Given the description of an element on the screen output the (x, y) to click on. 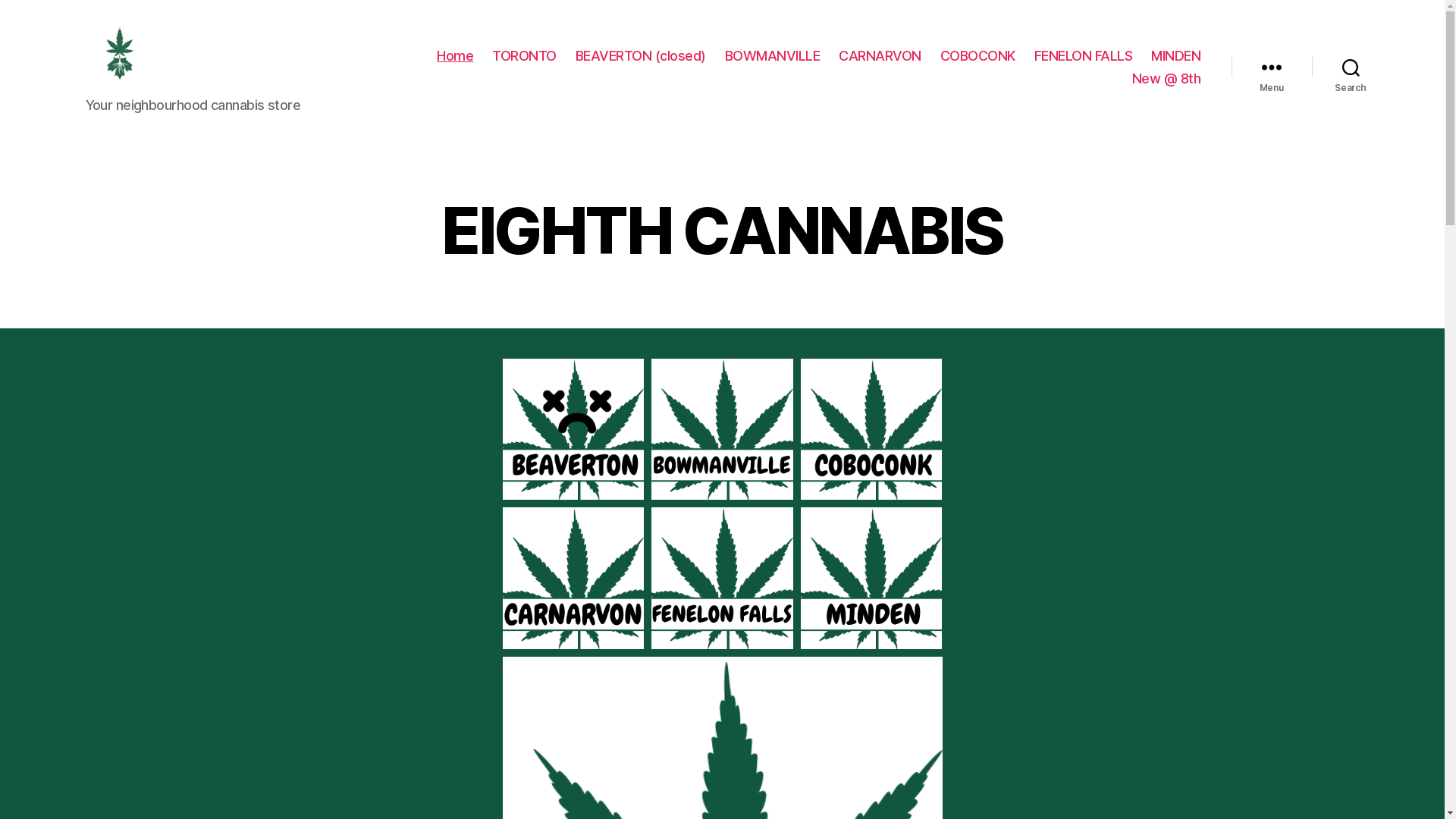
Search Element type: text (1350, 66)
New @ 8th Element type: text (1166, 77)
TORONTO Element type: text (524, 55)
Home Element type: text (454, 55)
Menu Element type: text (1271, 66)
CARNARVON Element type: text (879, 55)
BOWMANVILLE Element type: text (772, 55)
FENELON FALLS Element type: text (1083, 55)
BEAVERTON (closed) Element type: text (640, 55)
MINDEN Element type: text (1175, 55)
COBOCONK Element type: text (977, 55)
